Given the description of an element on the screen output the (x, y) to click on. 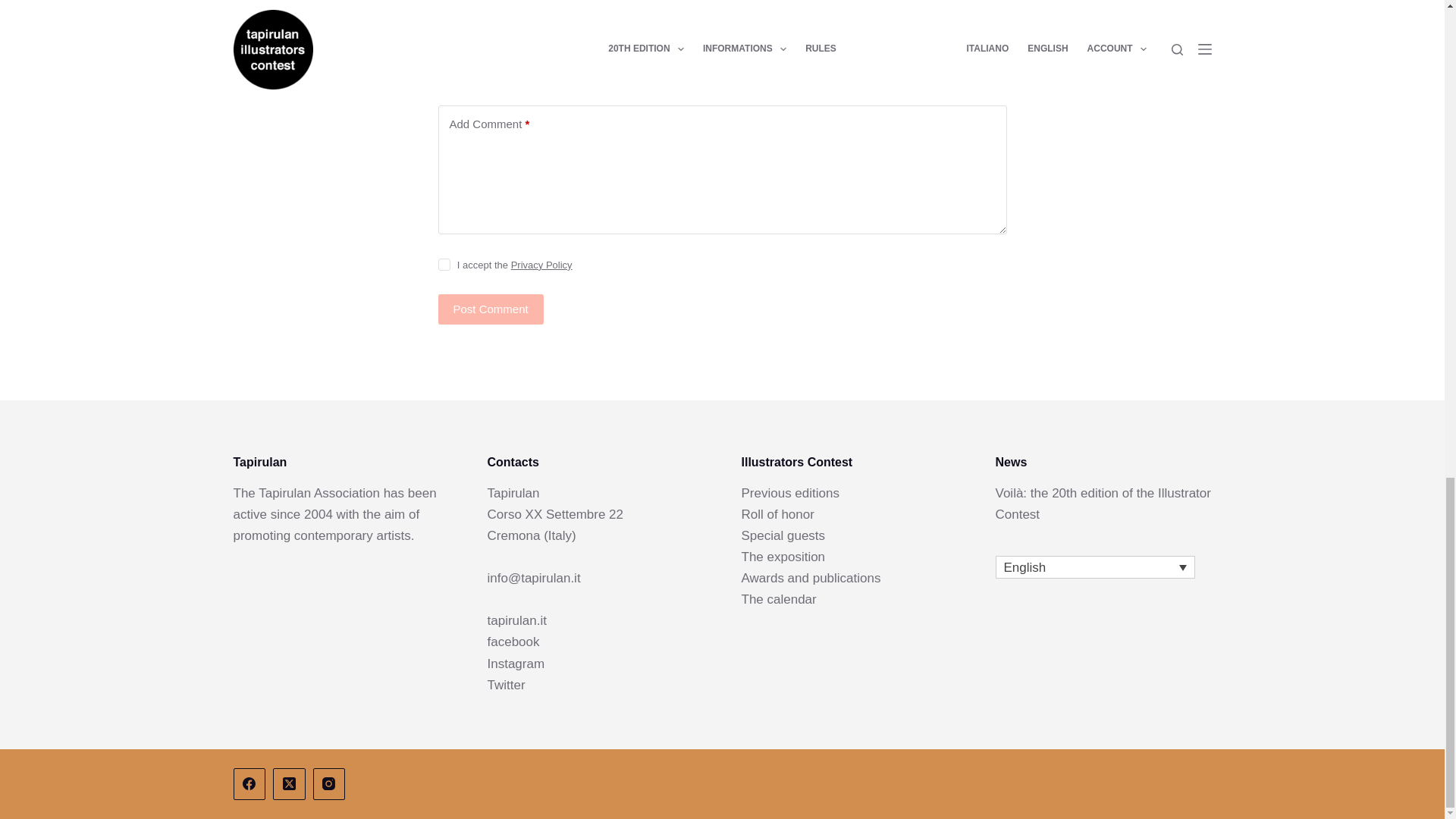
on (443, 264)
